Given the description of an element on the screen output the (x, y) to click on. 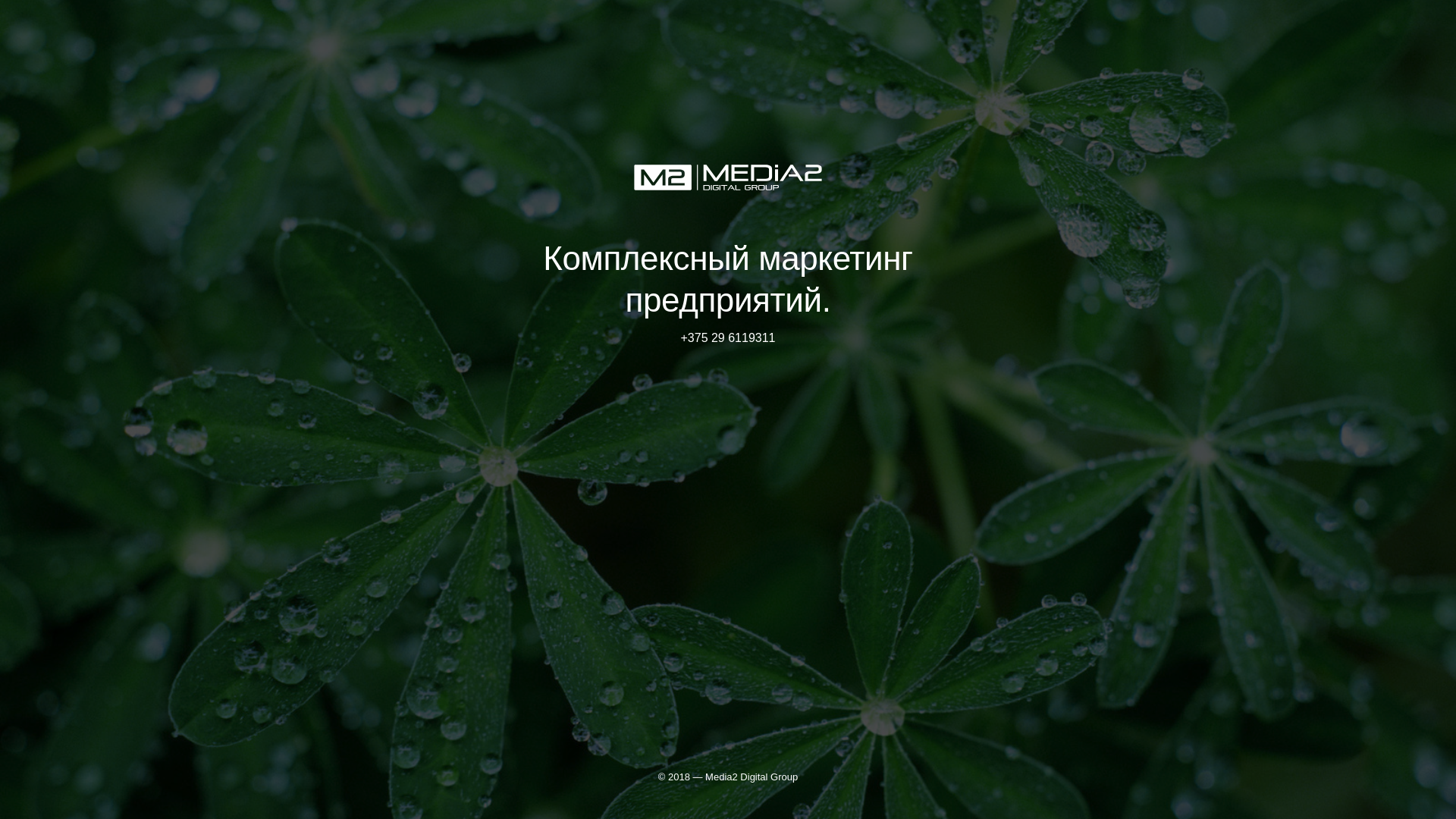
375 29 6119311 Element type: text (731, 337)
Media2 Digital Group Element type: text (751, 775)
